Given the description of an element on the screen output the (x, y) to click on. 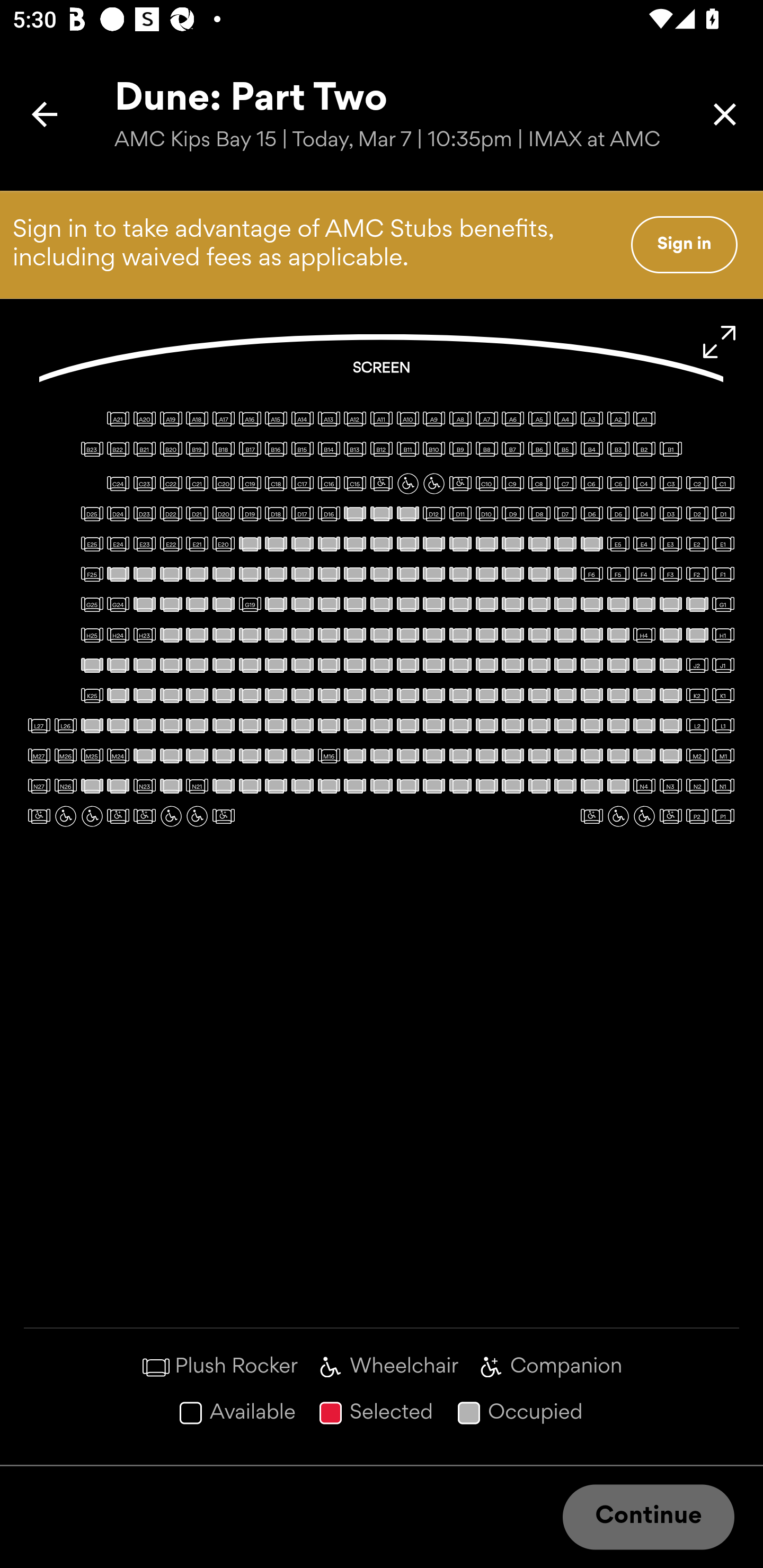
Back (44, 114)
Close (724, 114)
Sign in (684, 244)
Zoom (719, 342)
A21, Regular seat, available (118, 419)
A20, Regular seat, available (144, 419)
A19, Regular seat, available (170, 419)
A18, Regular seat, available (197, 419)
A17, Regular seat, available (223, 419)
A16, Regular seat, available (249, 419)
A15, Regular seat, available (276, 419)
A14, Regular seat, available (302, 419)
A13, Regular seat, available (328, 419)
A12, Regular seat, available (355, 419)
A11, Regular seat, available (381, 419)
A10, Regular seat, available (407, 419)
A9, Regular seat, available (433, 419)
A8, Regular seat, available (460, 419)
A7, Regular seat, available (486, 419)
A6, Regular seat, available (512, 419)
A5, Regular seat, available (539, 419)
A4, Regular seat, available (565, 419)
A3, Regular seat, available (591, 419)
A2, Regular seat, available (618, 419)
A1, Regular seat, available (644, 419)
B23, Regular seat, available (91, 449)
B22, Regular seat, available (118, 449)
B21, Regular seat, available (144, 449)
B20, Regular seat, available (170, 449)
B19, Regular seat, available (197, 449)
B18, Regular seat, available (223, 449)
B17, Regular seat, available (249, 449)
B16, Regular seat, available (276, 449)
B15, Regular seat, available (302, 449)
B14, Regular seat, available (328, 449)
B13, Regular seat, available (355, 449)
B12, Regular seat, available (381, 449)
B11, Regular seat, available (407, 449)
B10, Regular seat, available (433, 449)
B9, Regular seat, available (460, 449)
B8, Regular seat, available (486, 449)
B7, Regular seat, available (512, 449)
B6, Regular seat, available (539, 449)
B5, Regular seat, available (565, 449)
B4, Regular seat, available (591, 449)
B3, Regular seat, available (618, 449)
B2, Regular seat, available (644, 449)
B1, Regular seat, available (670, 449)
C24, Regular seat, available (118, 483)
C23, Regular seat, available (144, 483)
C22, Regular seat, available (170, 483)
C21, Regular seat, available (197, 483)
C20, Regular seat, available (223, 483)
C19, Regular seat, available (249, 483)
C18, Regular seat, available (276, 483)
C17, Regular seat, available (302, 483)
C16, Regular seat, available (328, 483)
C15, Regular seat, available (355, 483)
C14, Wheelchair companion seat, available (381, 483)
C13, Wheelchair space, available (407, 483)
C12, Wheelchair space, available (433, 483)
C11, Wheelchair companion seat, available (460, 483)
C10, Regular seat, available (486, 483)
C9, Regular seat, available (512, 483)
C8, Regular seat, available (539, 483)
C7, Regular seat, available (565, 483)
C6, Regular seat, available (591, 483)
C5, Regular seat, available (618, 483)
C4, Regular seat, available (644, 483)
C3, Regular seat, available (670, 483)
C2, Regular seat, available (697, 483)
C1, Regular seat, available (723, 483)
D25, Regular seat, available (91, 513)
D24, Regular seat, available (118, 513)
D23, Regular seat, available (144, 513)
D22, Regular seat, available (170, 513)
D21, Regular seat, available (197, 513)
D20, Regular seat, available (223, 513)
D19, Regular seat, available (249, 513)
D18, Regular seat, available (276, 513)
D17, Regular seat, available (302, 513)
D16, Regular seat, available (328, 513)
D12, Regular seat, available (433, 513)
D11, Regular seat, available (460, 513)
D10, Regular seat, available (486, 513)
D9, Regular seat, available (512, 513)
D8, Regular seat, available (539, 513)
D7, Regular seat, available (565, 513)
D6, Regular seat, available (591, 513)
D5, Regular seat, available (618, 513)
D4, Regular seat, available (644, 513)
D3, Regular seat, available (670, 513)
D2, Regular seat, available (697, 513)
D1, Regular seat, available (723, 513)
E25, Regular seat, available (91, 543)
E24, Regular seat, available (118, 543)
E23, Regular seat, available (144, 543)
E22, Regular seat, available (170, 543)
E21, Regular seat, available (197, 543)
E20, Regular seat, available (223, 543)
E5, Regular seat, available (618, 543)
E4, Regular seat, available (644, 543)
E3, Regular seat, available (670, 543)
E2, Regular seat, available (697, 543)
E1, Regular seat, available (723, 543)
F25, Regular seat, available (91, 574)
F6, Regular seat, available (591, 574)
F5, Regular seat, available (618, 574)
F4, Regular seat, available (644, 574)
F3, Regular seat, available (670, 574)
F2, Regular seat, available (697, 574)
F1, Regular seat, available (723, 574)
G25, Regular seat, available (91, 604)
G24, Regular seat, available (118, 604)
G19, Regular seat, available (249, 604)
G1, Regular seat, available (723, 604)
H25, Regular seat, available (91, 634)
H24, Regular seat, available (118, 634)
H23, Regular seat, available (144, 634)
H4, Regular seat, available (644, 634)
H1, Regular seat, available (723, 634)
J2, Regular seat, available (697, 665)
J1, Regular seat, available (723, 665)
K25, Regular seat, available (91, 695)
K2, Regular seat, available (697, 695)
K1, Regular seat, available (723, 695)
L27, Regular seat, available (39, 725)
L26, Regular seat, available (65, 725)
L2, Regular seat, available (697, 725)
L1, Regular seat, available (723, 725)
M27, Regular seat, available (39, 755)
M26, Regular seat, available (65, 755)
M25, Regular seat, available (91, 755)
M24, Regular seat, available (118, 755)
M16, Regular seat, available (328, 755)
M2, Regular seat, available (697, 755)
M1, Regular seat, available (723, 755)
N27, Regular seat, available (39, 786)
N26, Regular seat, available (65, 786)
N23, Regular seat, available (144, 786)
N21, Regular seat, available (197, 786)
N4, Regular seat, available (644, 786)
N3, Regular seat, available (670, 786)
N2, Regular seat, available (697, 786)
N1, Regular seat, available (723, 786)
P14, Wheelchair companion seat, available (39, 816)
P13, Wheelchair space, available (65, 816)
P12, Wheelchair space, available (91, 816)
P11, Wheelchair companion seat, available (118, 816)
P10, Wheelchair companion seat, available (144, 816)
P9, Wheelchair space, available (170, 816)
P8, Wheelchair space, available (197, 816)
P7, Wheelchair companion seat, available (223, 816)
P6, Wheelchair companion seat, available (591, 816)
P5, Wheelchair space, available (618, 816)
P4, Wheelchair space, available (644, 816)
P3, Wheelchair companion seat, available (670, 816)
P2, Regular seat, available (697, 816)
P1, Regular seat, available (723, 816)
